Given the description of an element on the screen output the (x, y) to click on. 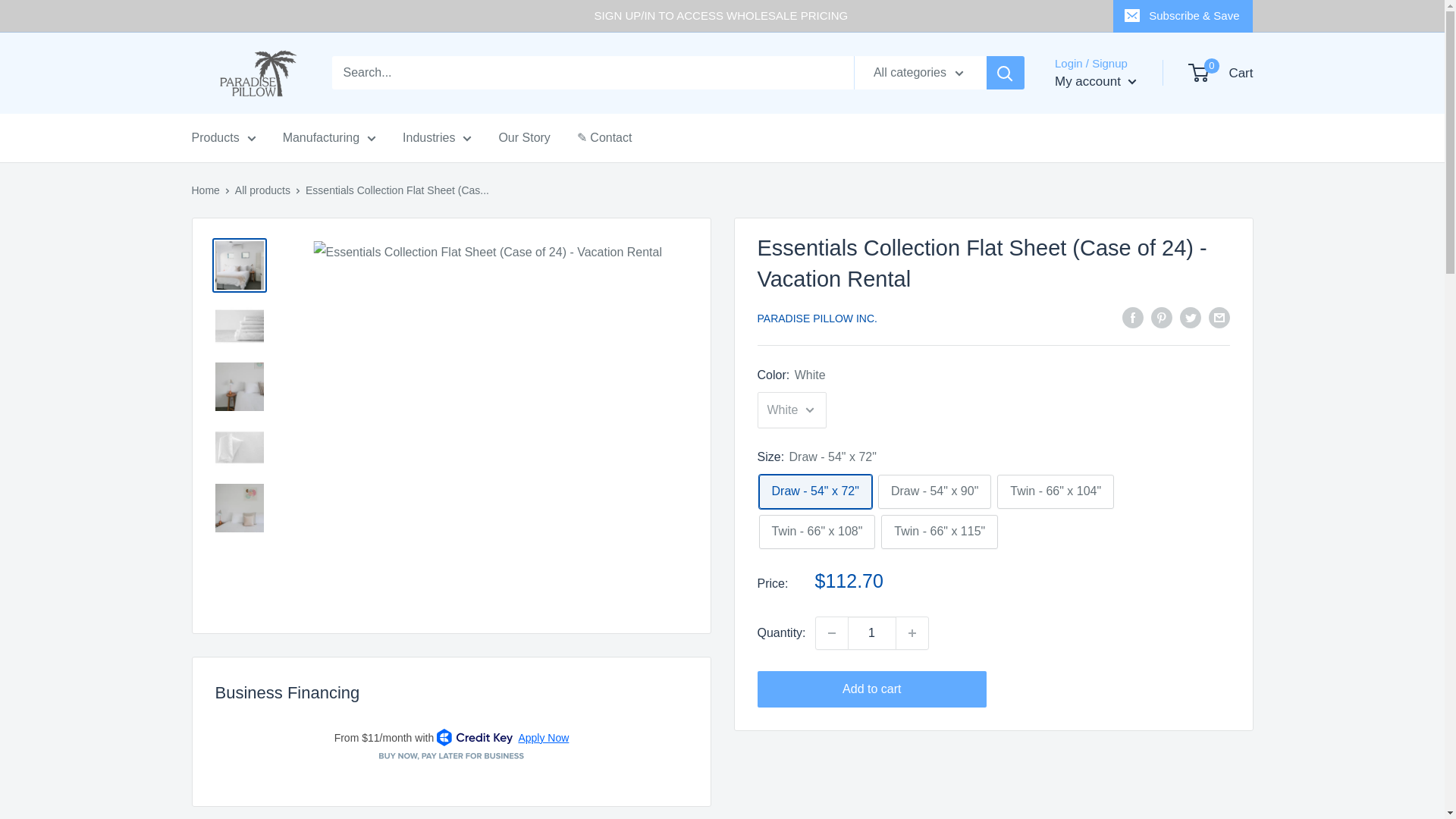
1 (871, 633)
Increase quantity by 1 (912, 633)
Draw - 54" x 72" (814, 491)
Twin - 66" x 108" (816, 531)
Draw - 54" x 90" (934, 491)
Decrease quantity by 1 (831, 633)
Twin - 66" x 104" (1055, 491)
Twin - 66" x 115" (938, 531)
